Given the description of an element on the screen output the (x, y) to click on. 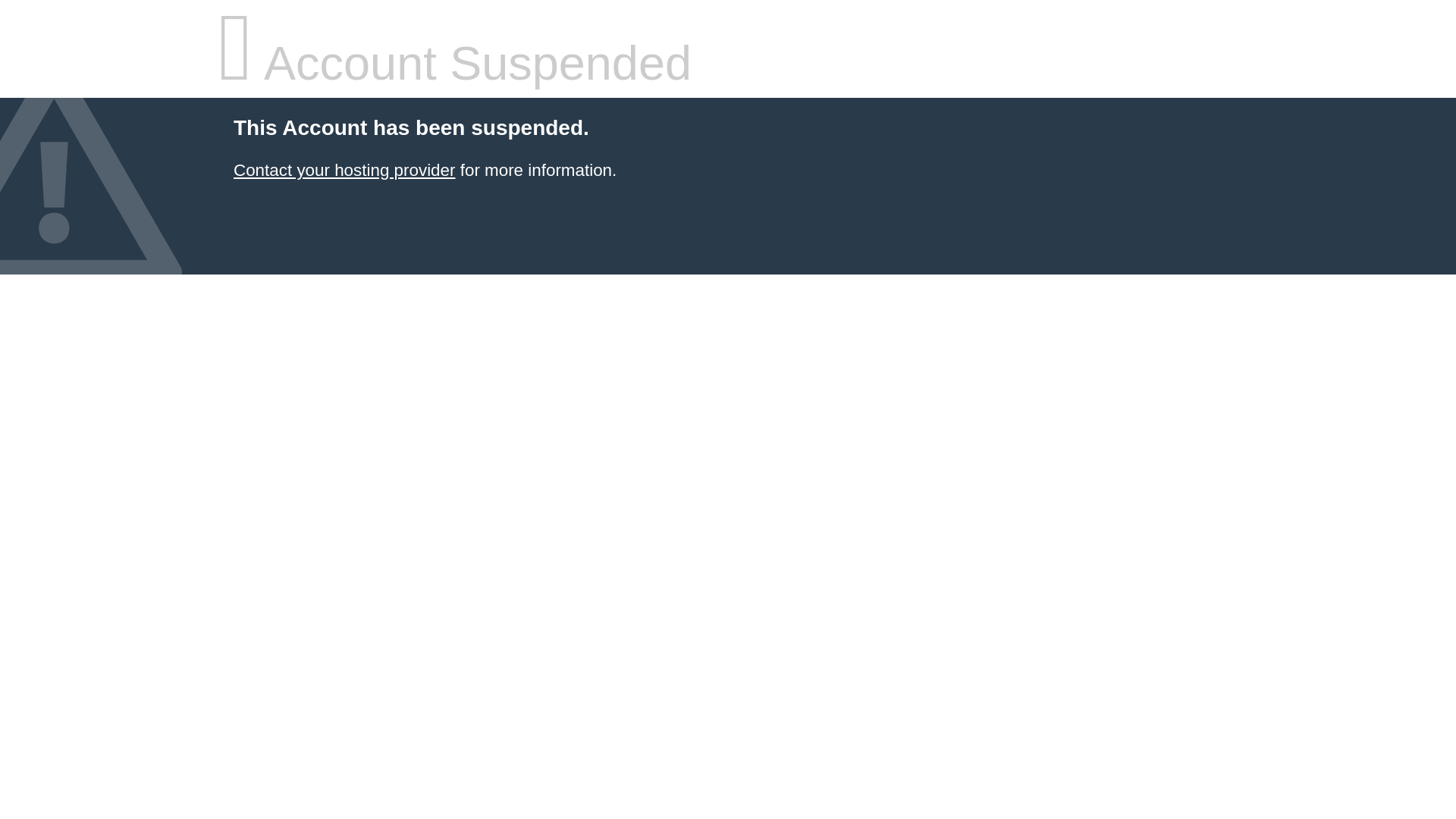
Contact your hosting provider (343, 169)
